Given the description of an element on the screen output the (x, y) to click on. 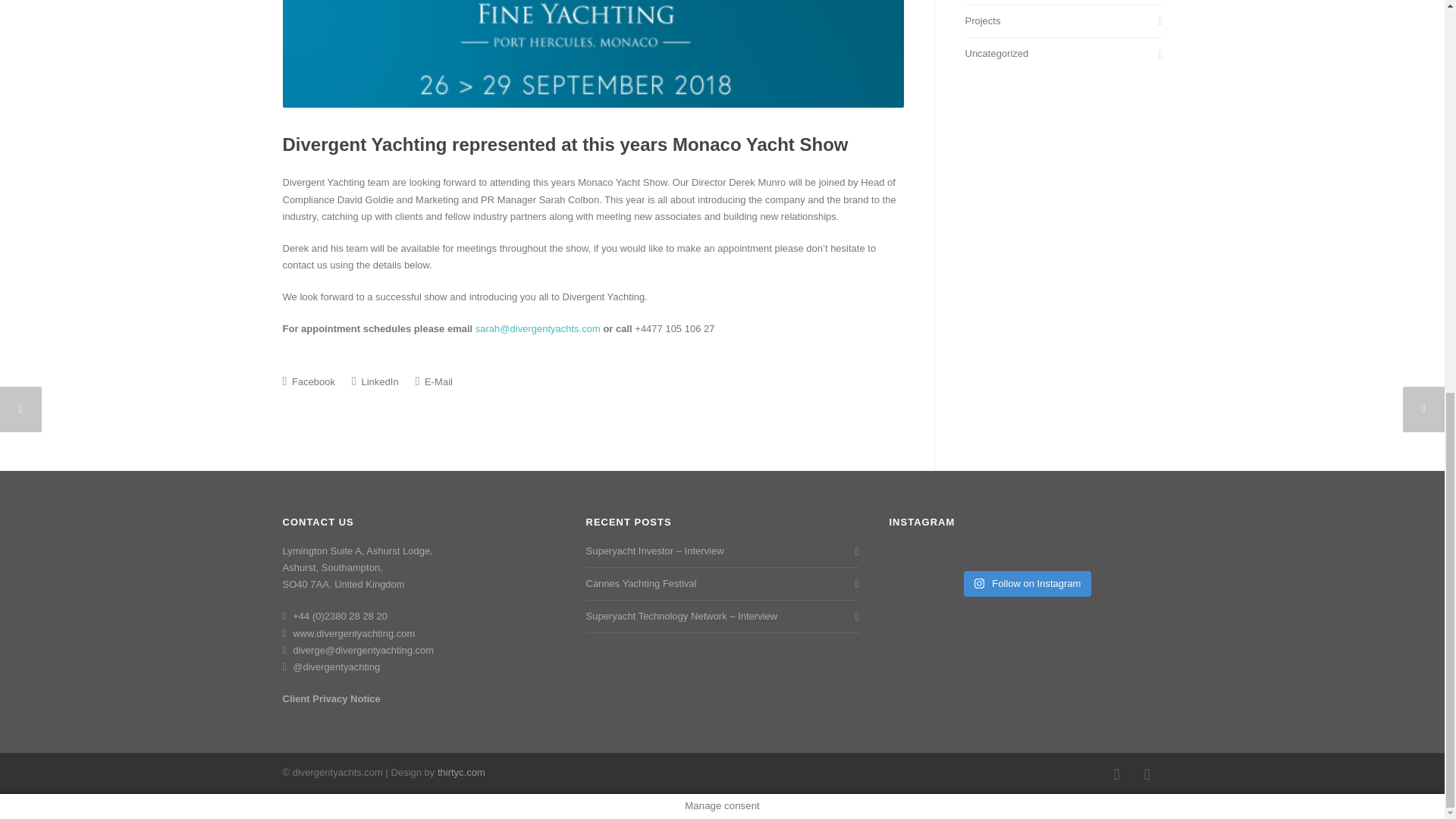
Share via LinkedIn (375, 380)
LinkedIn (375, 380)
Share via Facebook (308, 380)
E-Mail (433, 380)
Facebook (308, 380)
LinkedIn (1146, 774)
Instagram (1115, 774)
